Given the description of an element on the screen output the (x, y) to click on. 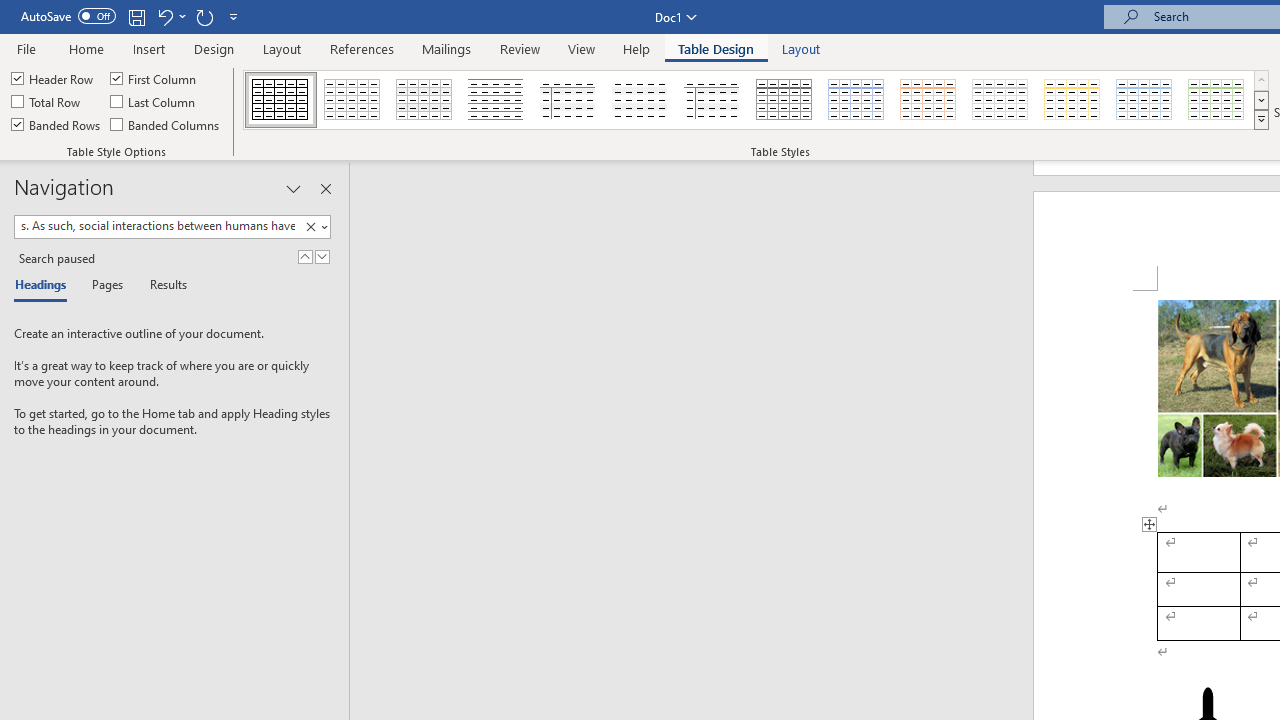
Repeat Style (204, 15)
Next Result (322, 256)
Last Column (154, 101)
Clear (310, 227)
